Given the description of an element on the screen output the (x, y) to click on. 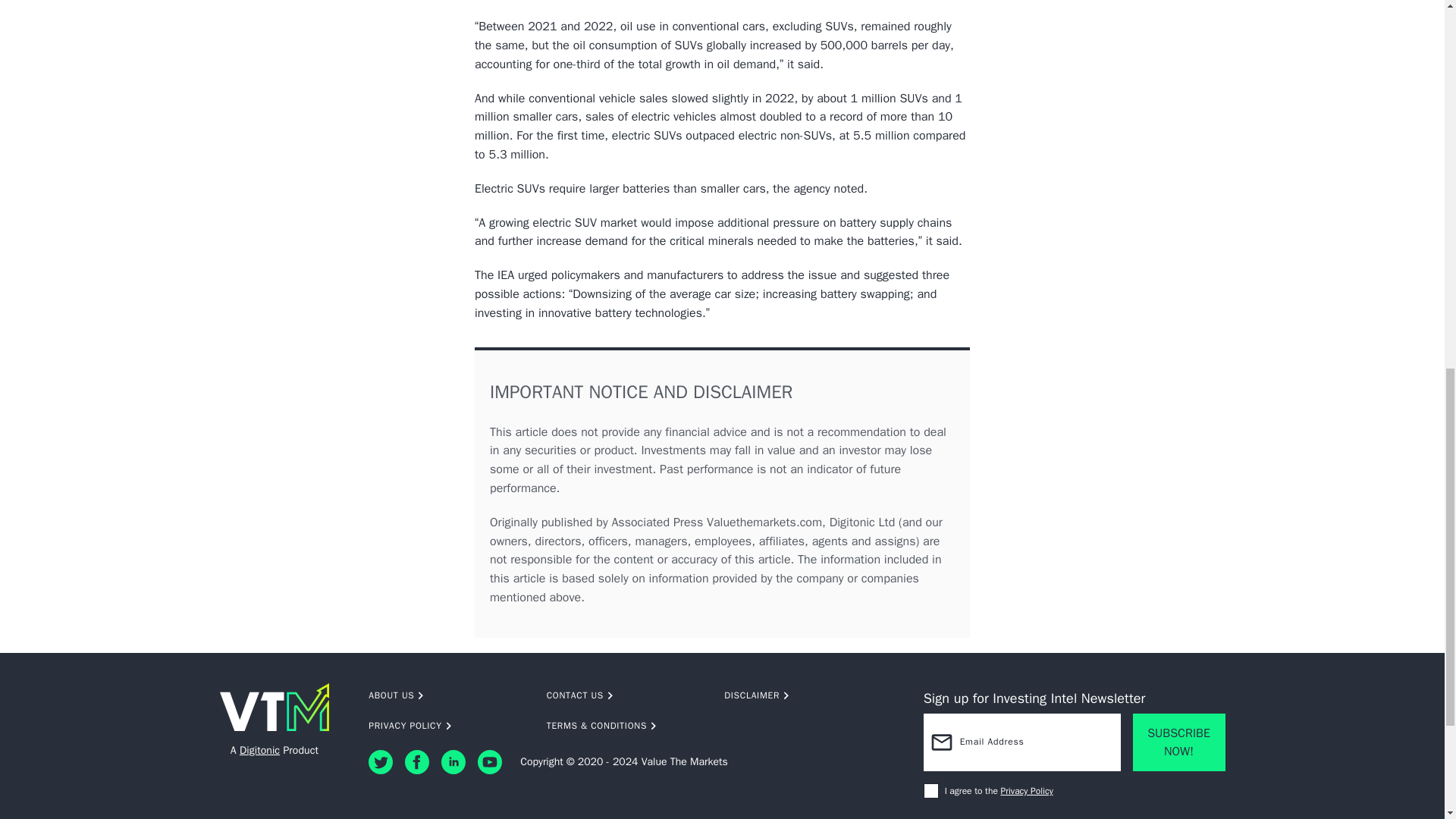
Yes (931, 790)
